Given the description of an element on the screen output the (x, y) to click on. 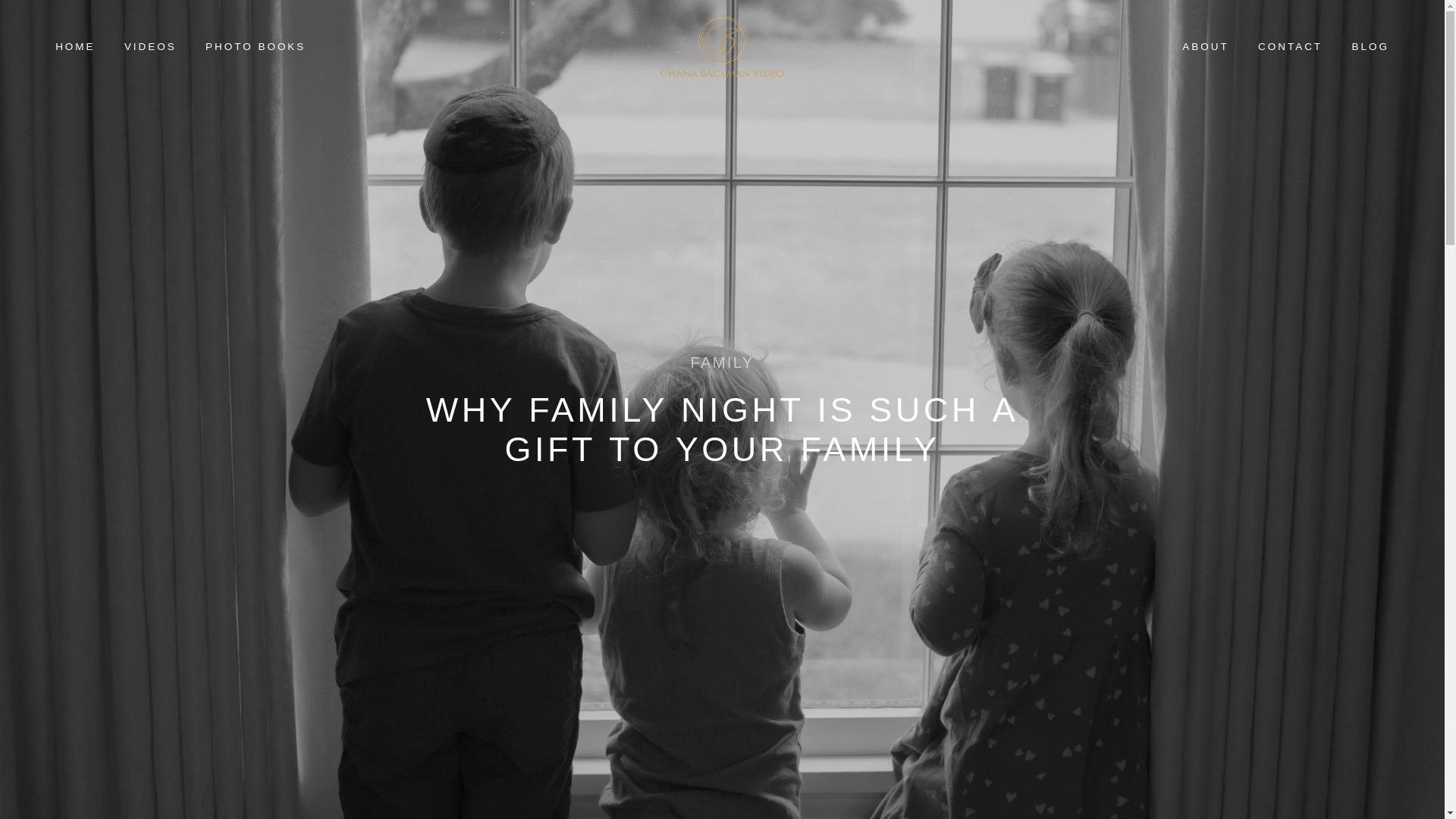
BLOG (1369, 46)
CONTACT (1289, 46)
PHOTO BOOKS (255, 46)
HOME (75, 46)
FAMILY (722, 363)
VIDEOS (150, 46)
ABOUT (1205, 46)
